Given the description of an element on the screen output the (x, y) to click on. 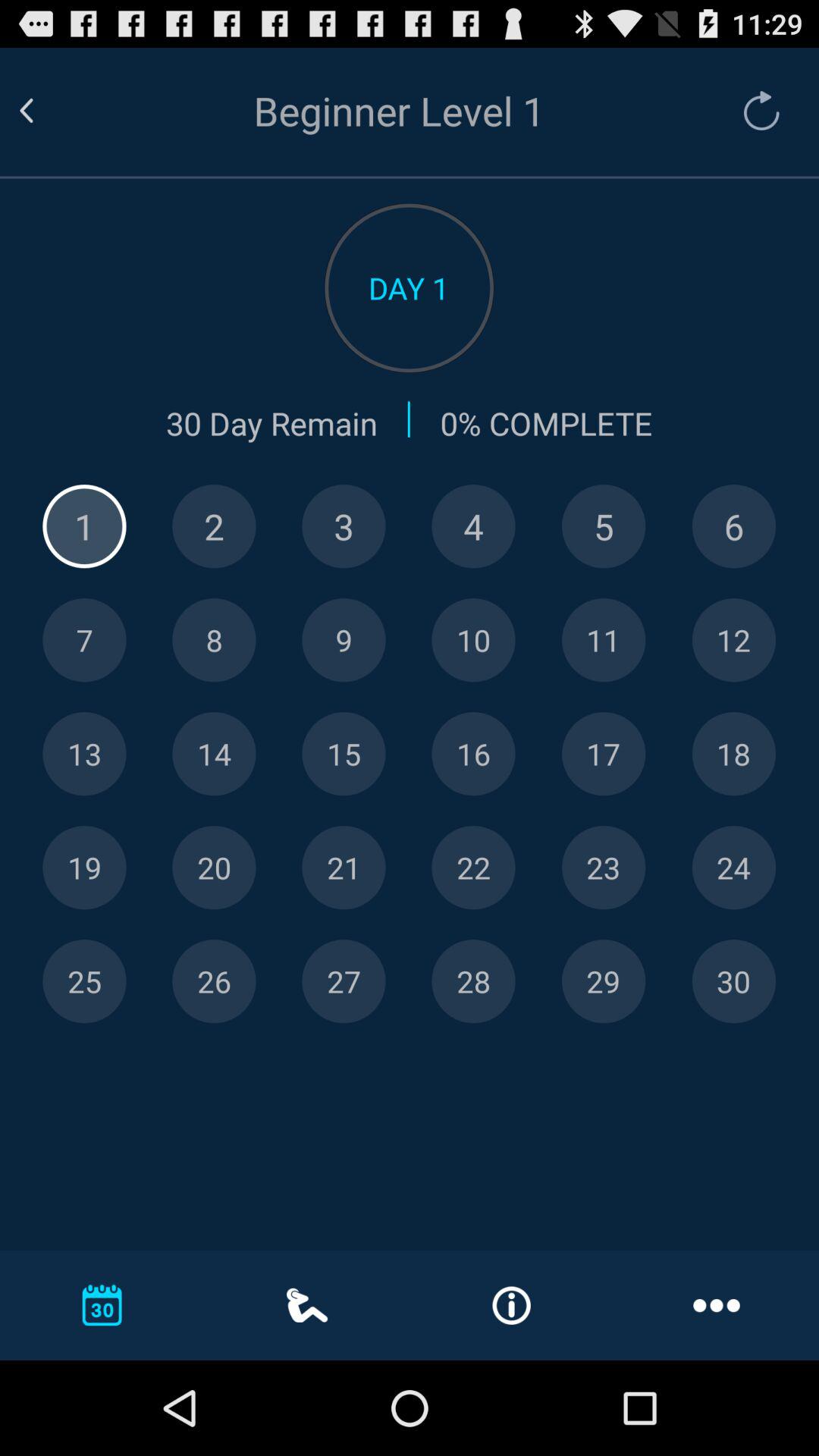
select day 9 (343, 639)
